Given the description of an element on the screen output the (x, y) to click on. 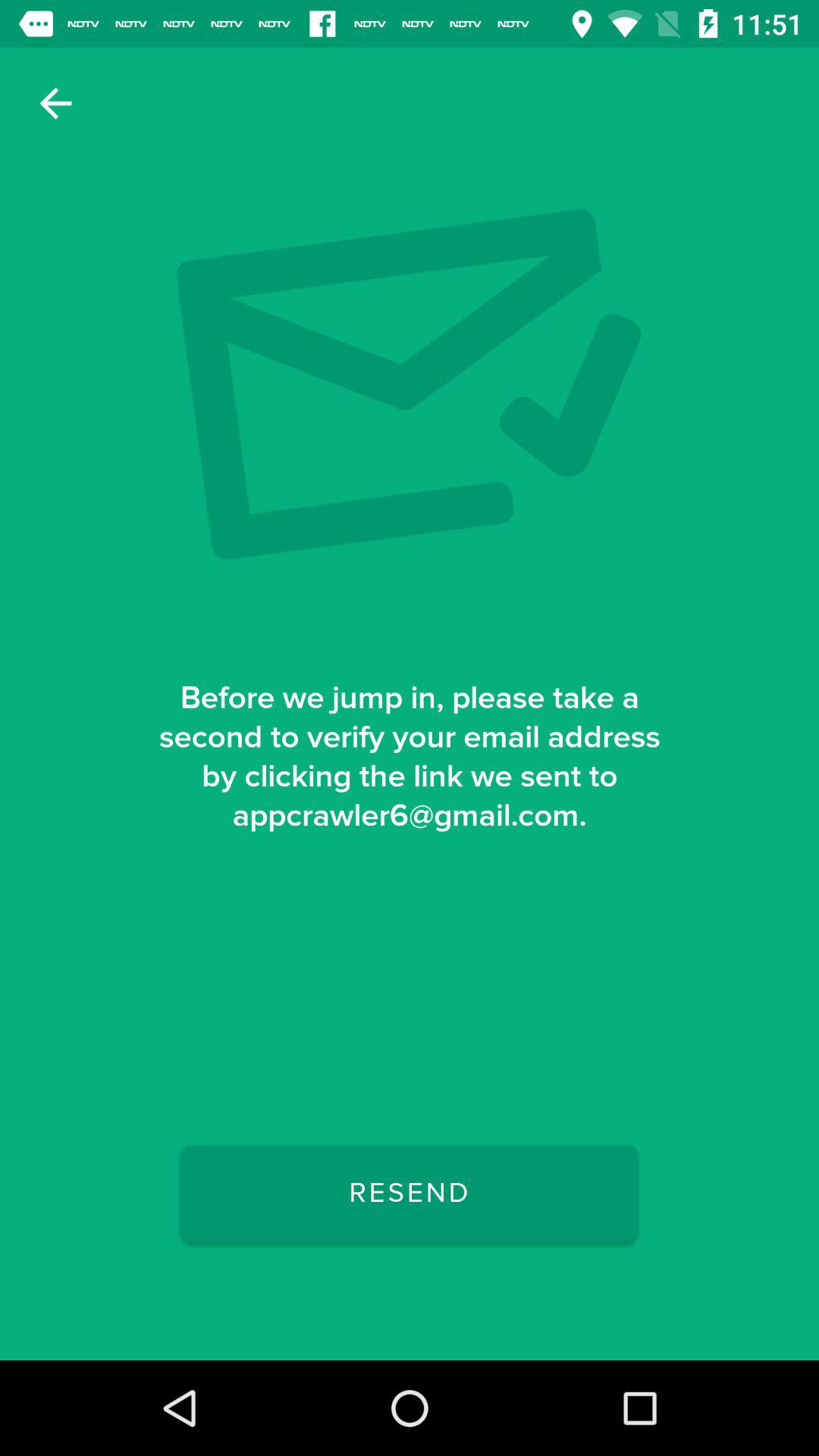
turn on the item at the top left corner (55, 103)
